Given the description of an element on the screen output the (x, y) to click on. 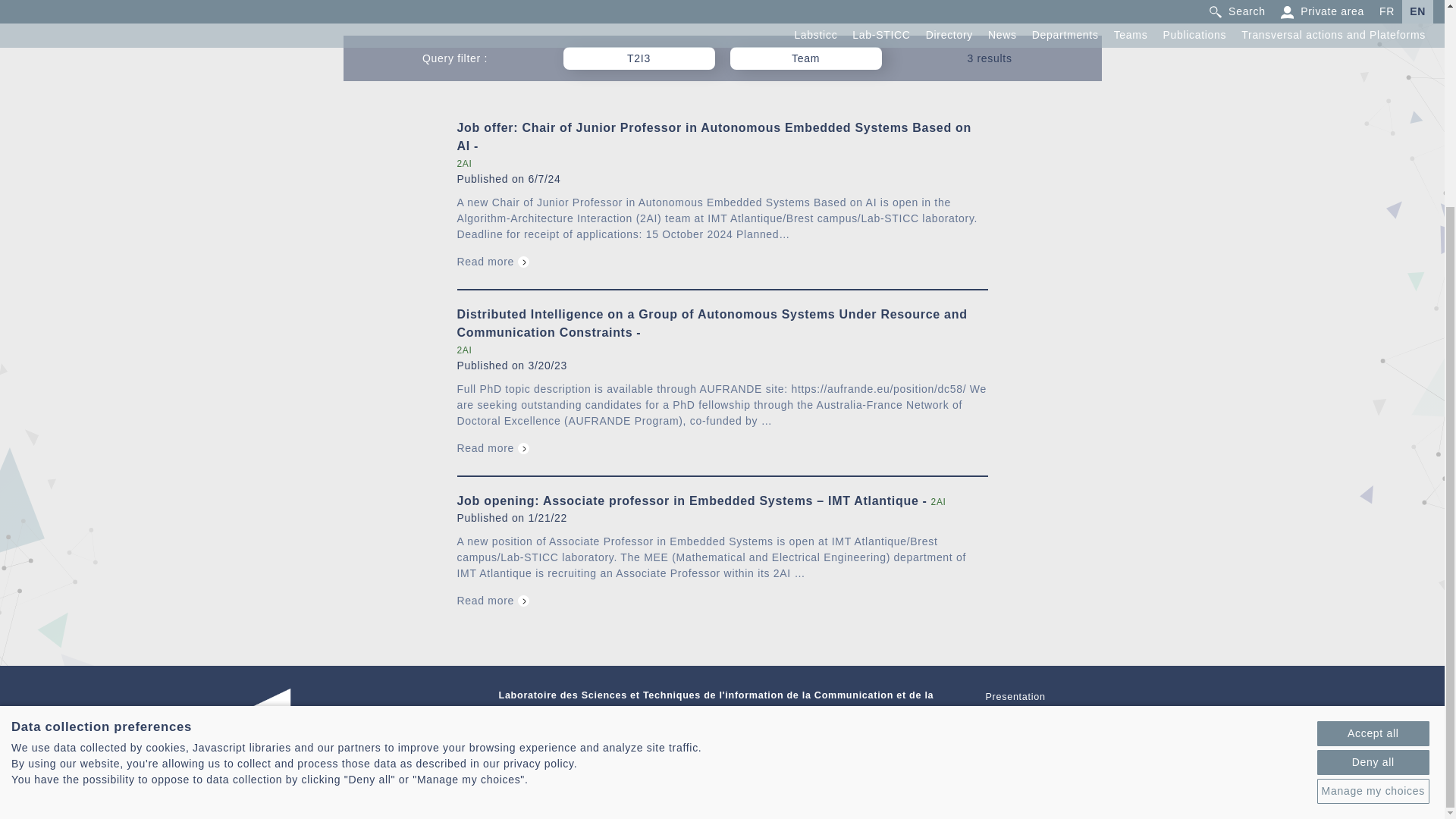
2AI (464, 163)
Read more (493, 261)
